Given the description of an element on the screen output the (x, y) to click on. 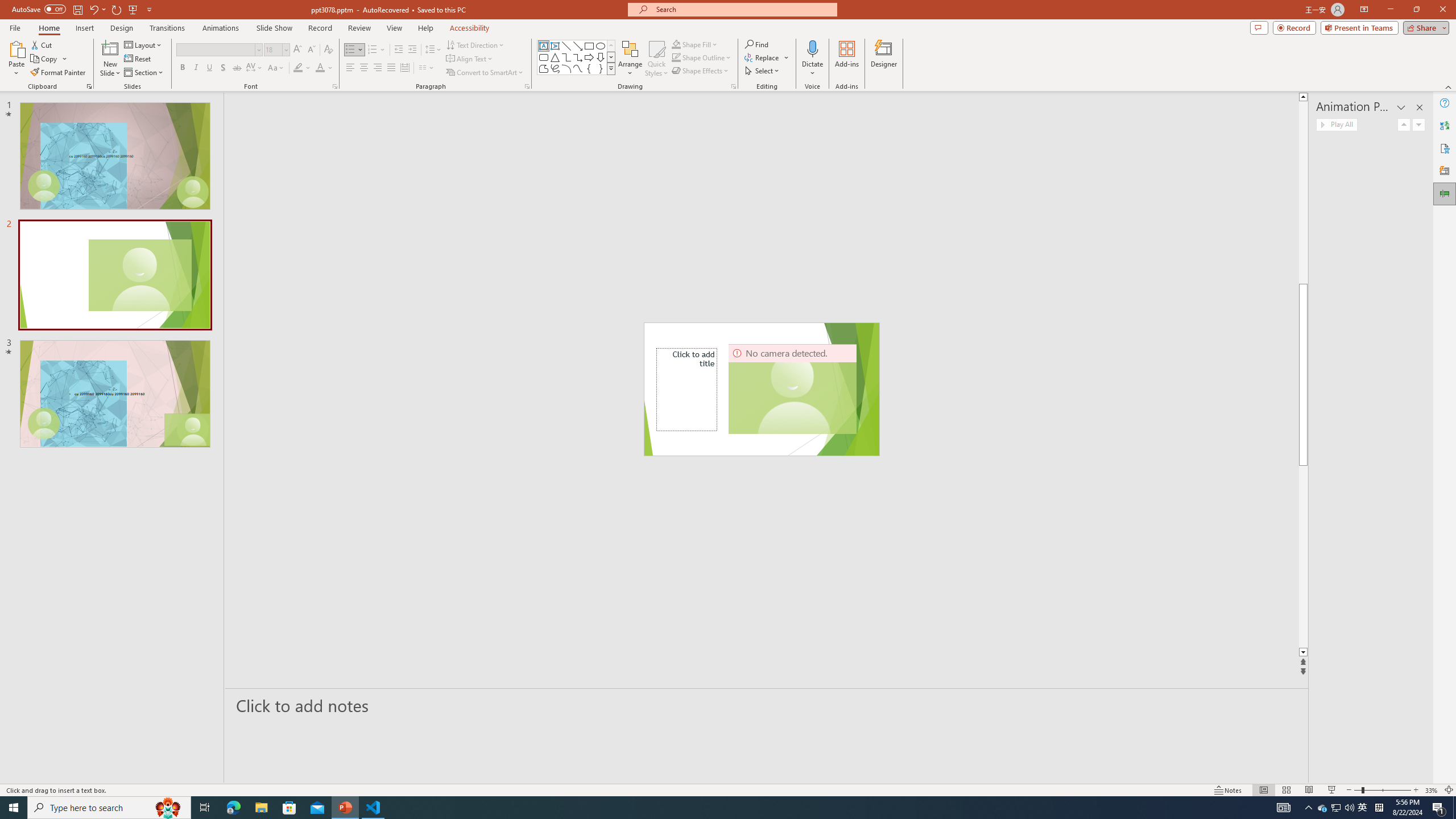
Play All (1336, 124)
